Given the description of an element on the screen output the (x, y) to click on. 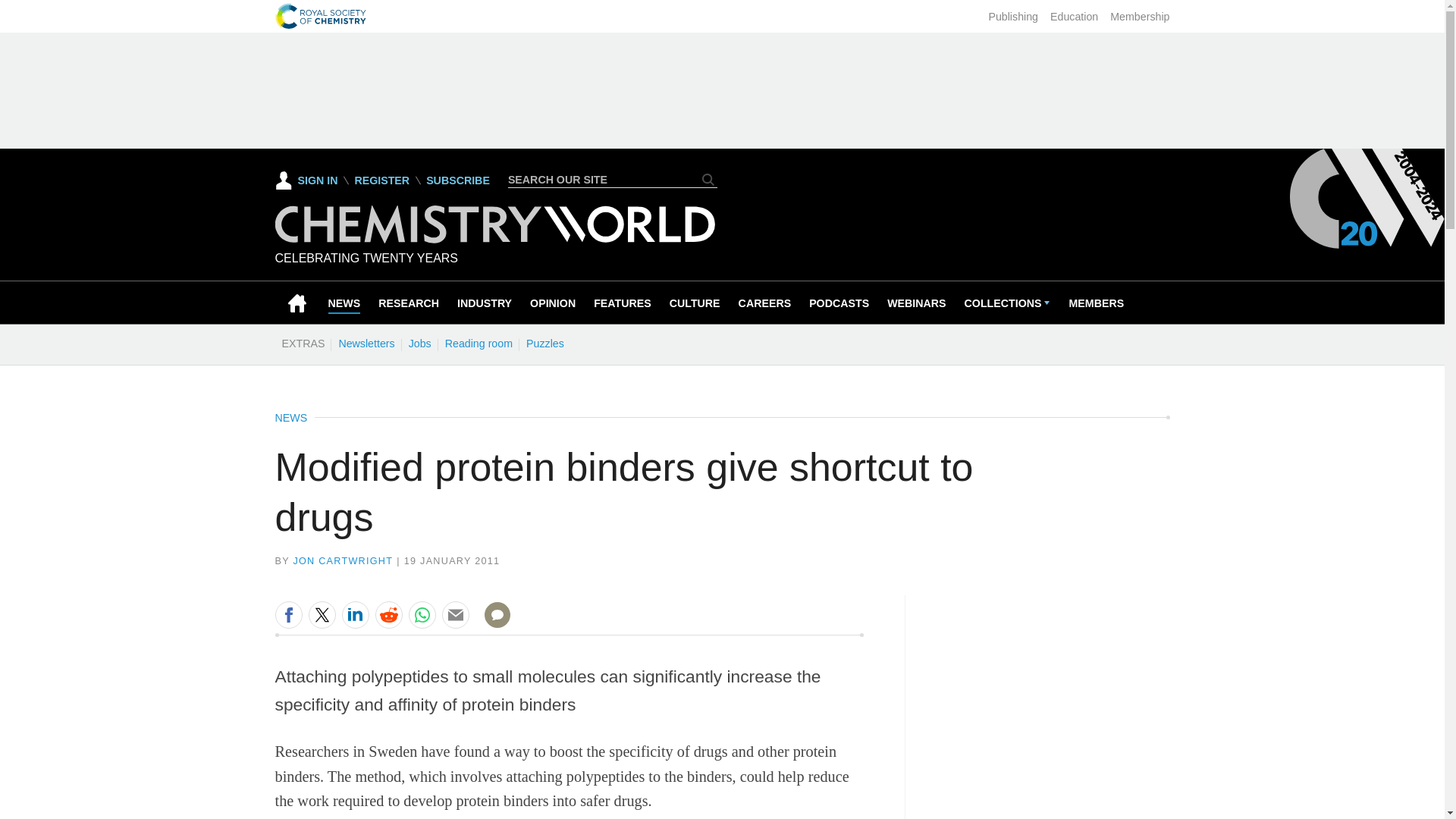
Publishing (1013, 16)
SIGN IN (306, 180)
Chemistry World (494, 238)
REGISTER (381, 180)
Chemistry World (494, 224)
Newsletters (366, 343)
SEARCH (708, 179)
Reading room (478, 343)
Education (1073, 16)
Puzzles (544, 343)
NO COMMENTS (492, 623)
Membership (1139, 16)
SUBSCRIBE (457, 180)
Share this on WhatsApp (421, 614)
Share this on Reddit (387, 614)
